Given the description of an element on the screen output the (x, y) to click on. 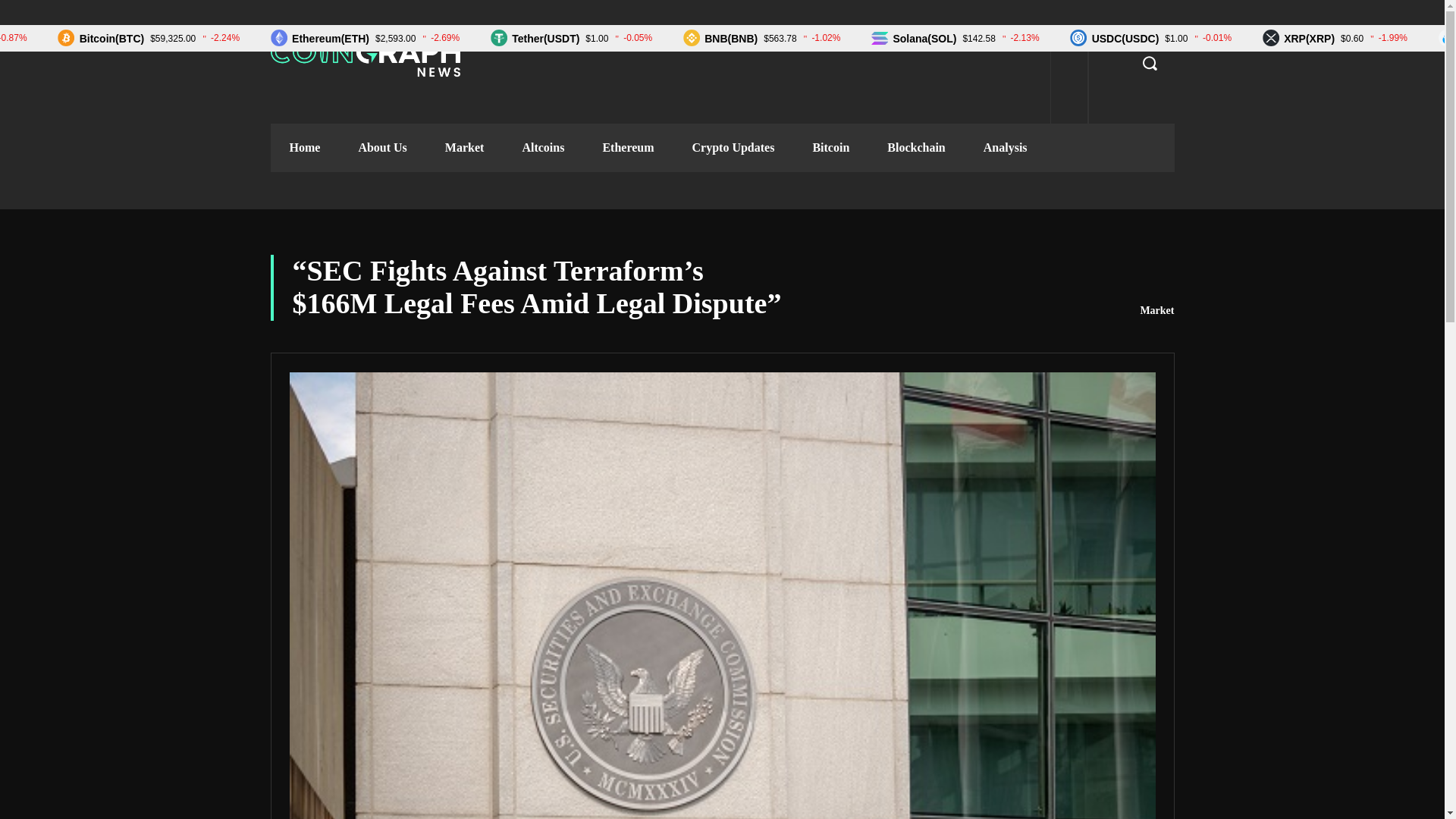
Altcoins (542, 147)
Home (304, 147)
Market (1156, 310)
Market (464, 147)
Bitcoin (830, 147)
Blockchain (915, 147)
About Us (382, 147)
Crypto Updates (732, 147)
Ethereum (627, 147)
